Given the description of an element on the screen output the (x, y) to click on. 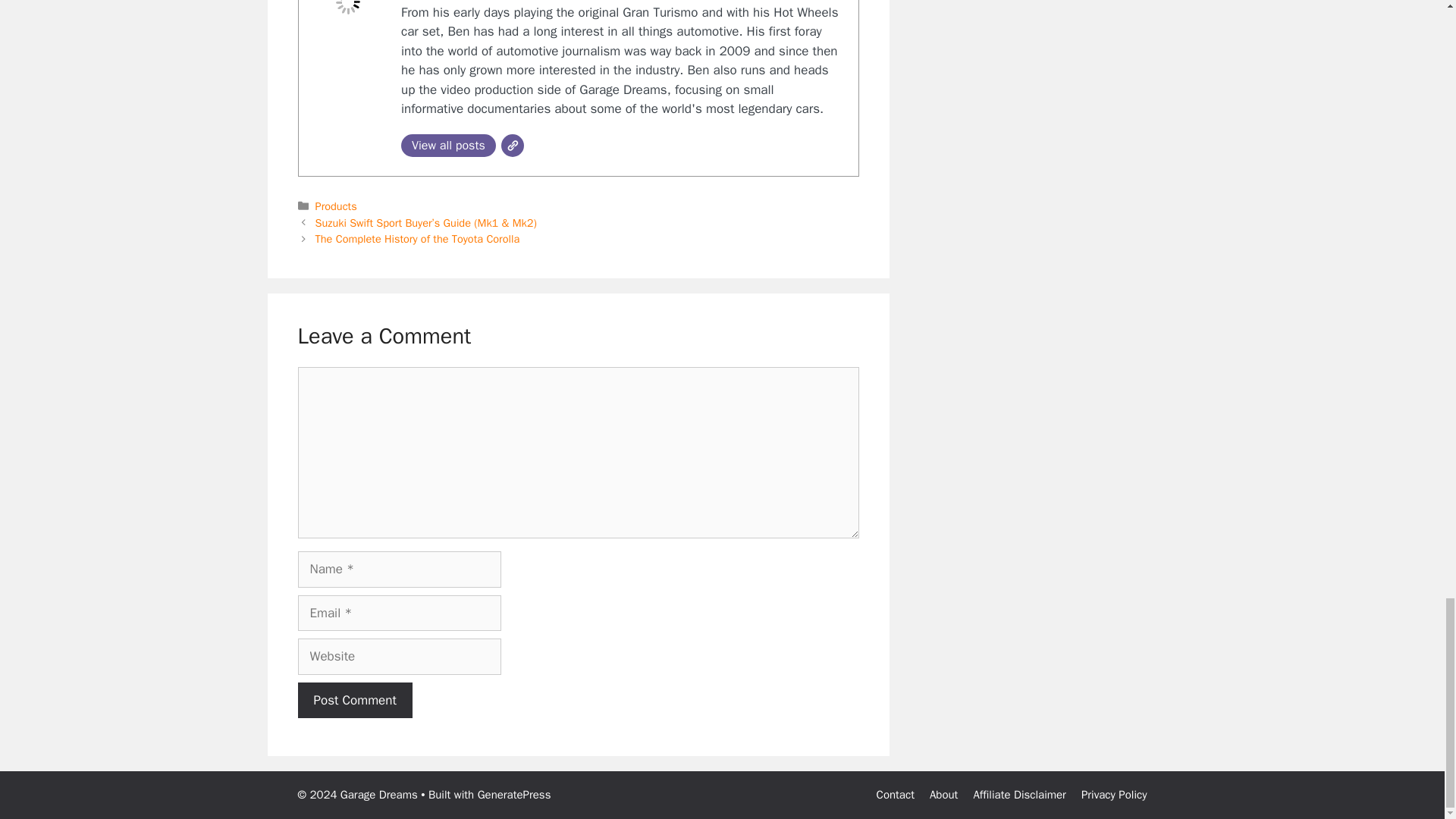
Post Comment (354, 700)
View all posts (448, 145)
Products (335, 205)
Post Comment (354, 700)
View all posts (448, 145)
The Complete History of the Toyota Corolla (417, 238)
